Given the description of an element on the screen output the (x, y) to click on. 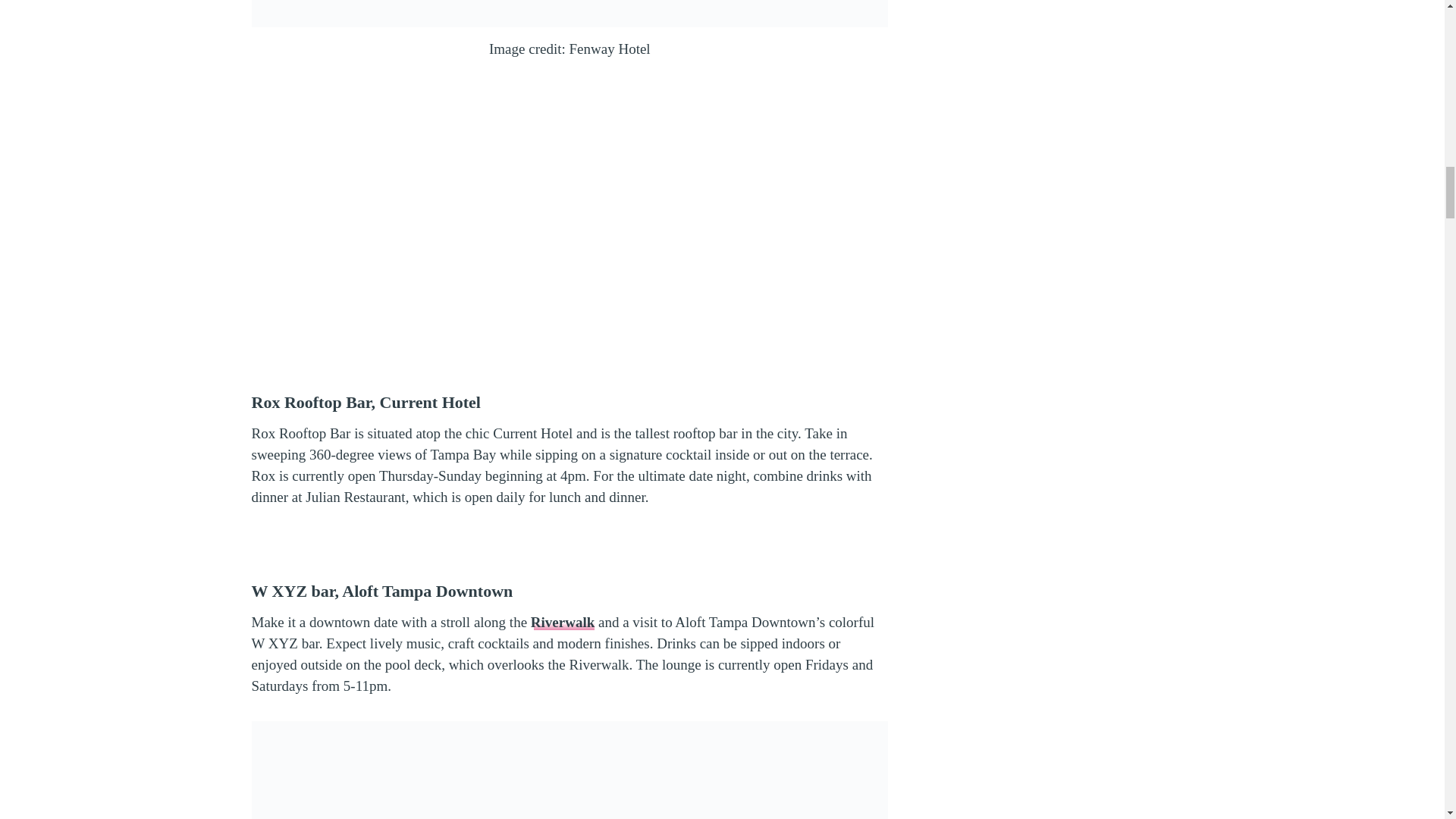
W XYZ bar, Aloft Tampa Downtown (382, 590)
Rox Rooftop Bar, Current Hotel (365, 402)
Riverwalk (562, 621)
